Given the description of an element on the screen output the (x, y) to click on. 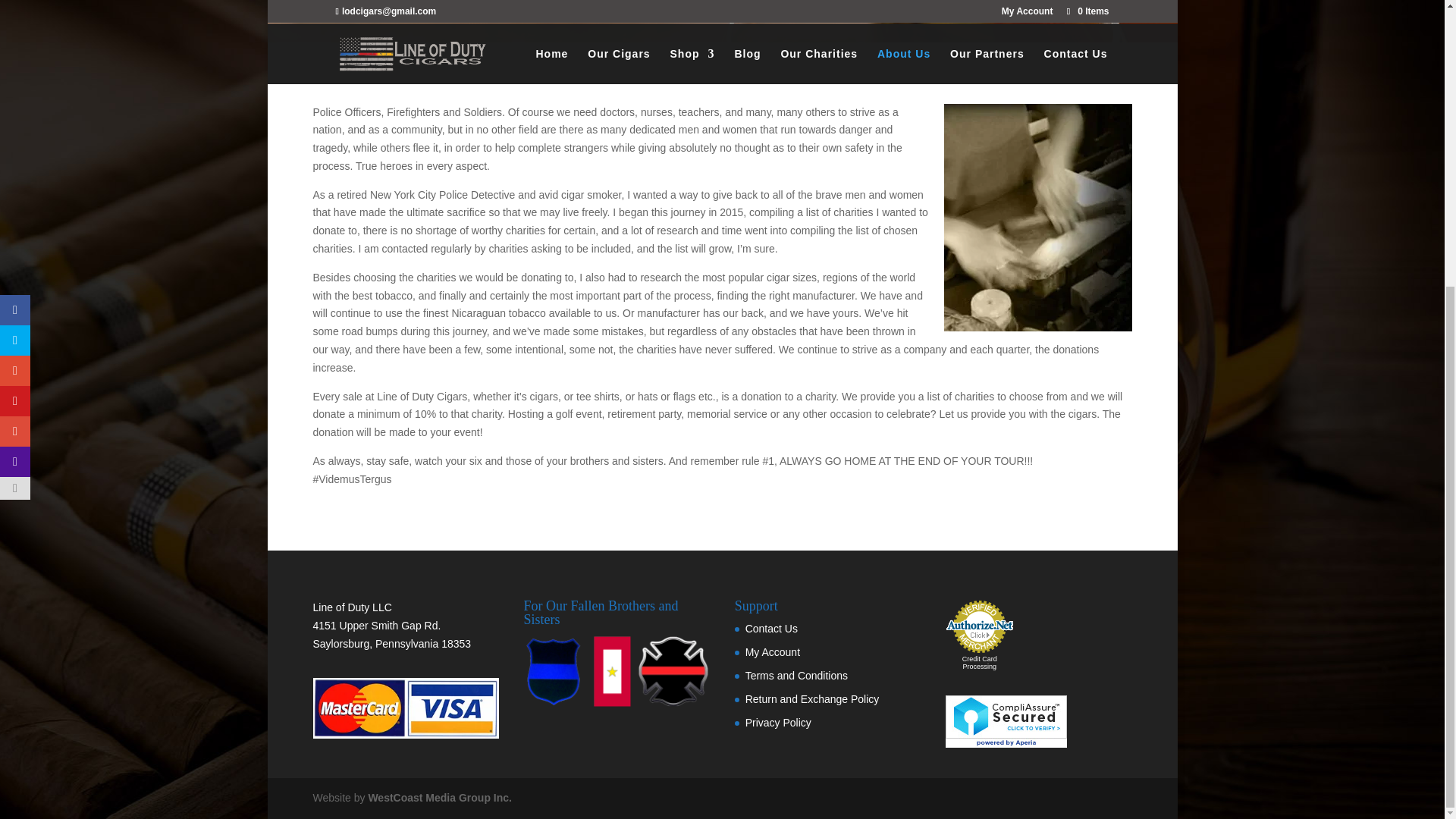
Privacy Policy (777, 722)
Contact Us (771, 628)
WestCoast Media Group Inc. (440, 797)
Terms and Conditions (796, 675)
Credit Card Processing (979, 662)
My Account (772, 652)
Return and Exchange Policy (812, 698)
